Given the description of an element on the screen output the (x, y) to click on. 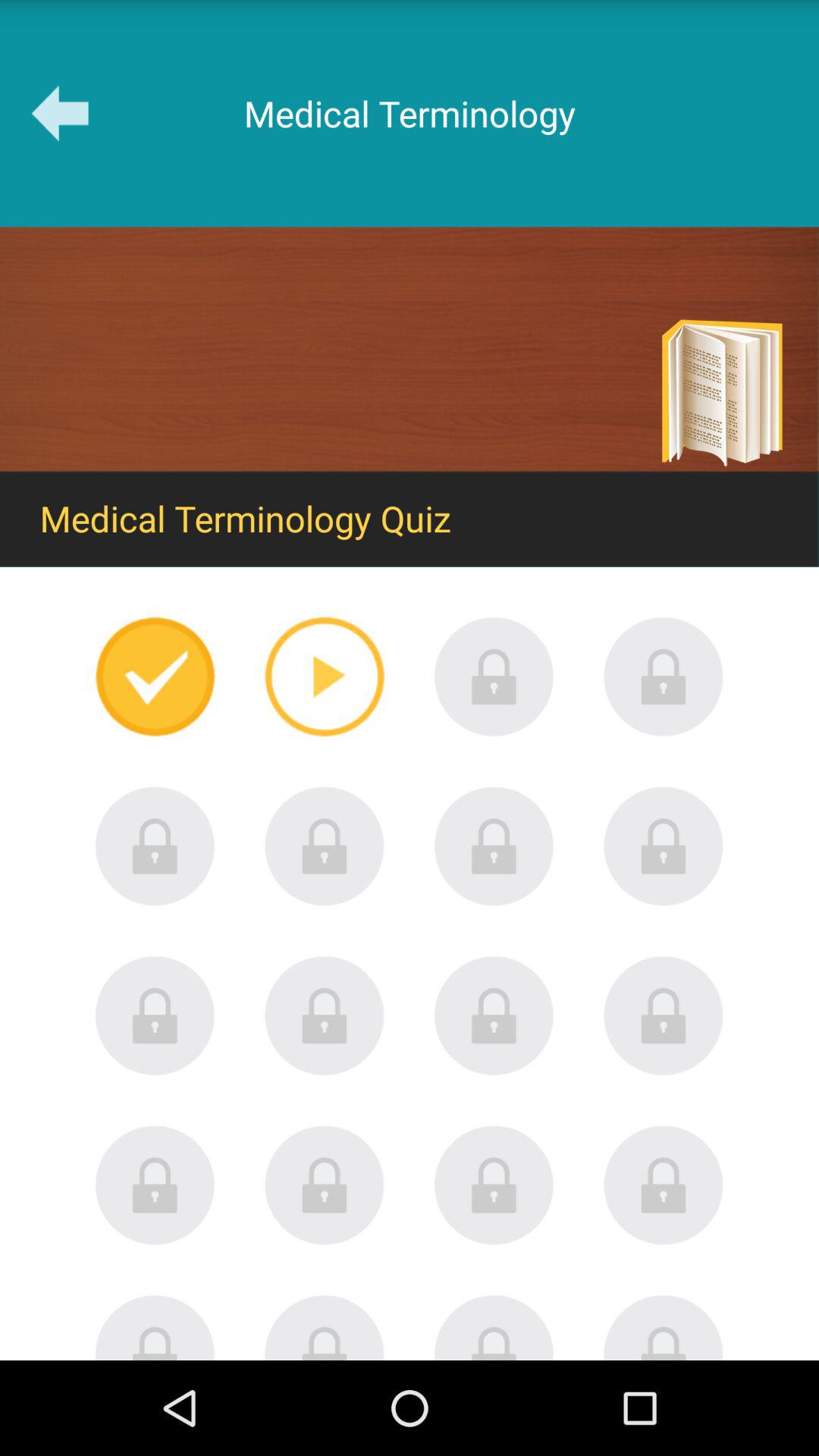
play (324, 676)
